Given the description of an element on the screen output the (x, y) to click on. 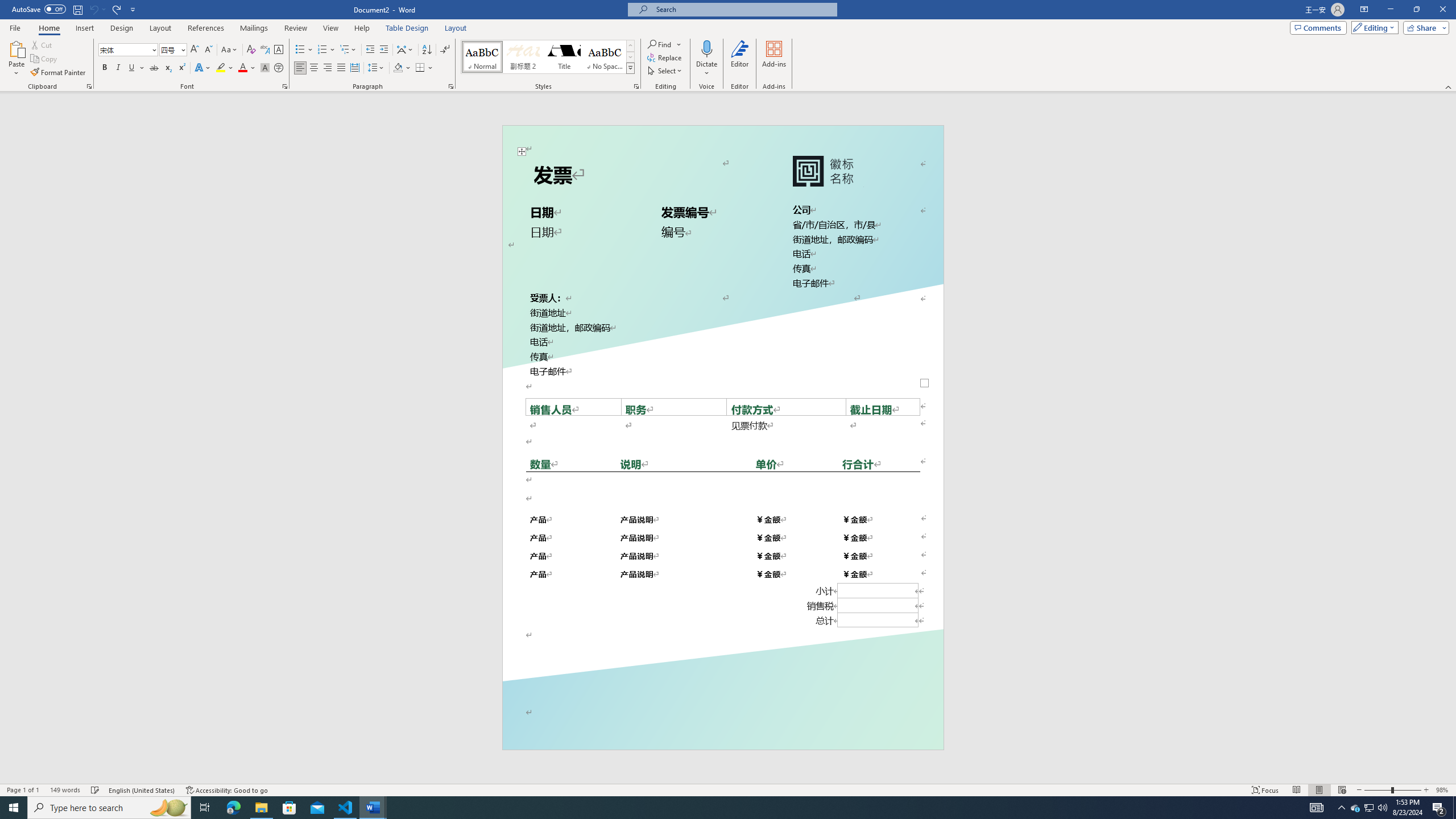
First Page Header -Section 1- (722, 140)
